Given the description of an element on the screen output the (x, y) to click on. 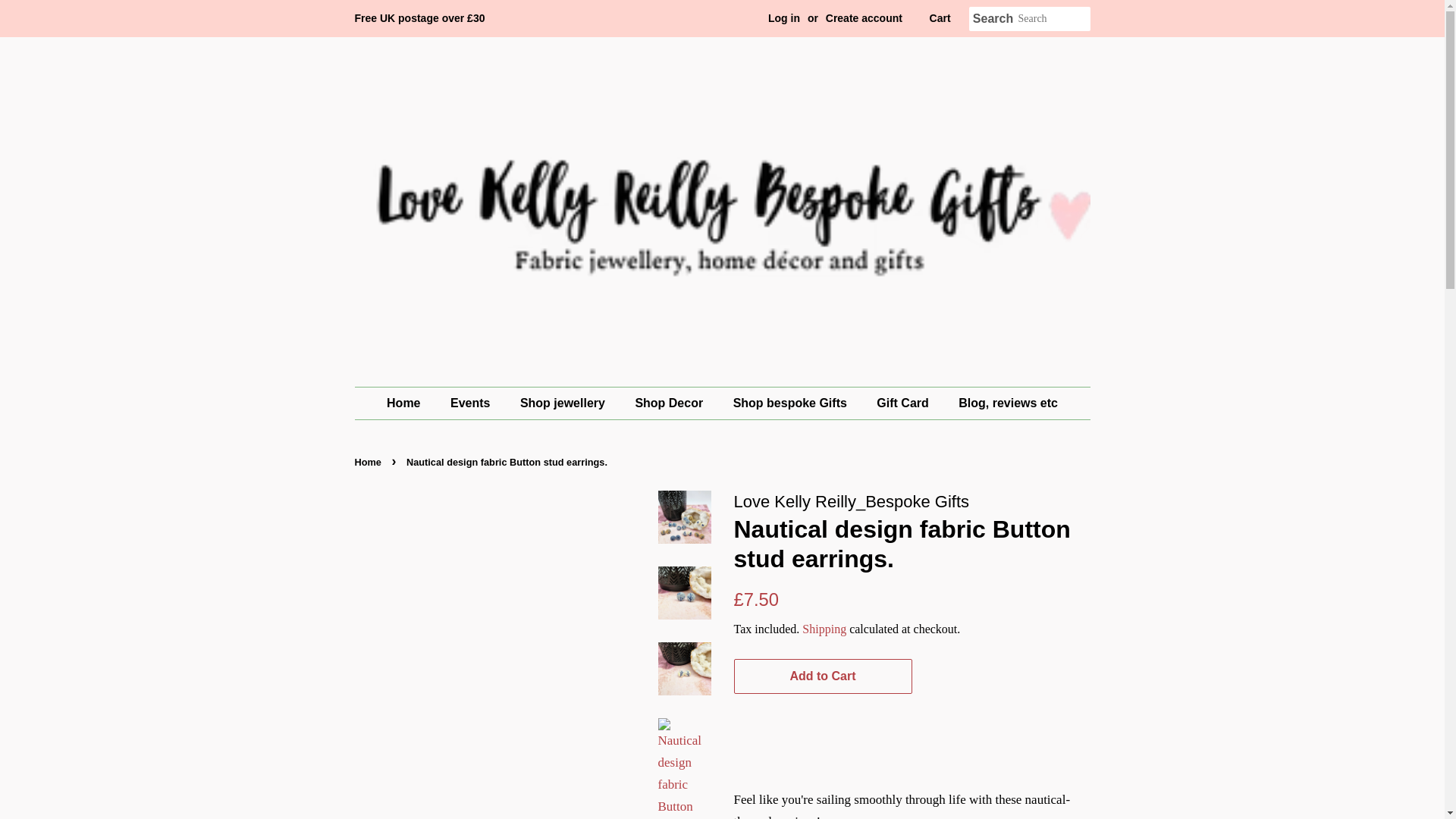
Create account (863, 18)
Log in (783, 18)
Back to the frontpage (370, 461)
Search (993, 18)
Cart (940, 18)
